Given the description of an element on the screen output the (x, y) to click on. 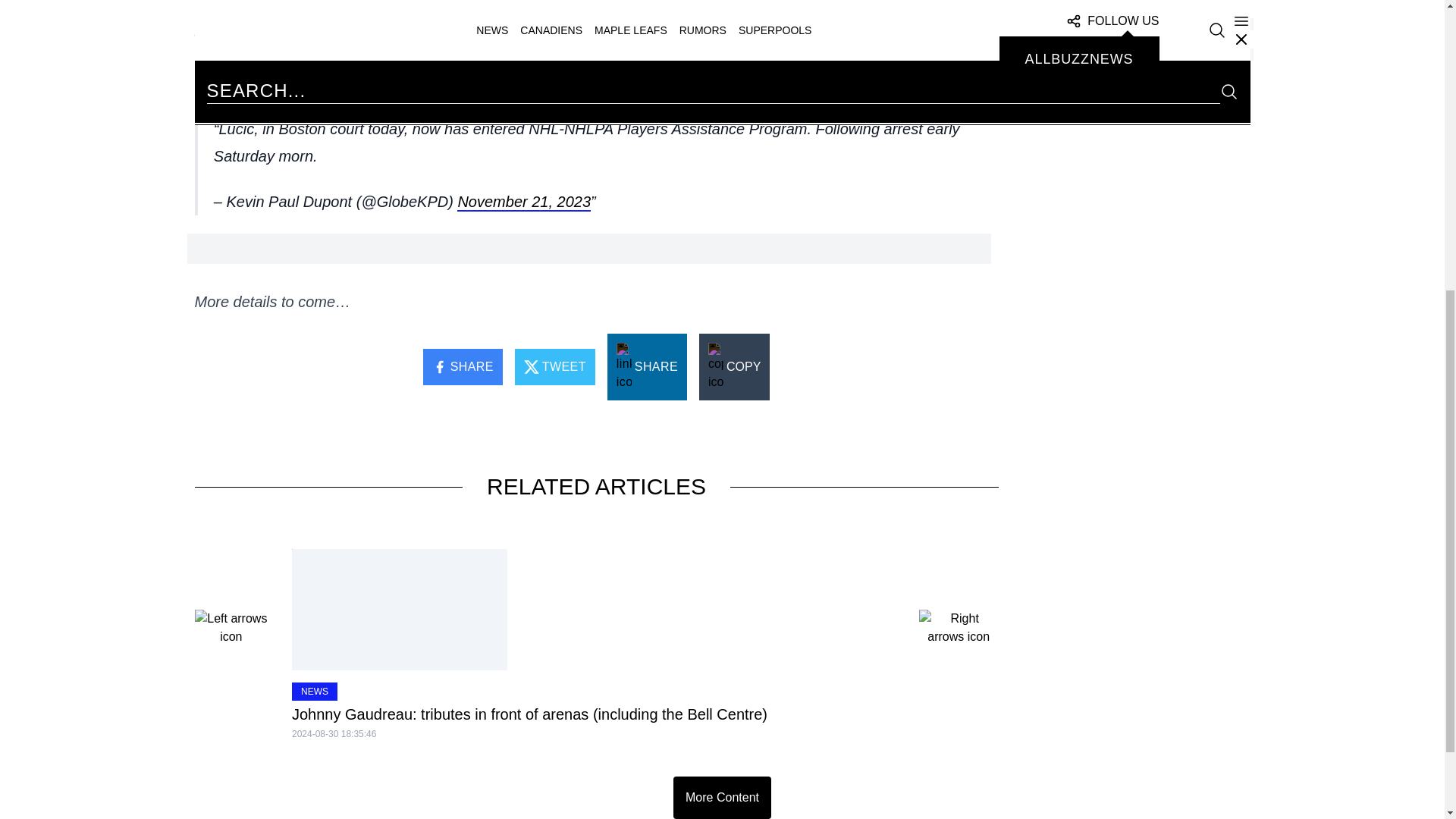
SHARE (647, 366)
COPY (734, 366)
NEWS (314, 691)
November 21, 2023 (524, 202)
SHARE (462, 366)
TWEET (555, 366)
